Given the description of an element on the screen output the (x, y) to click on. 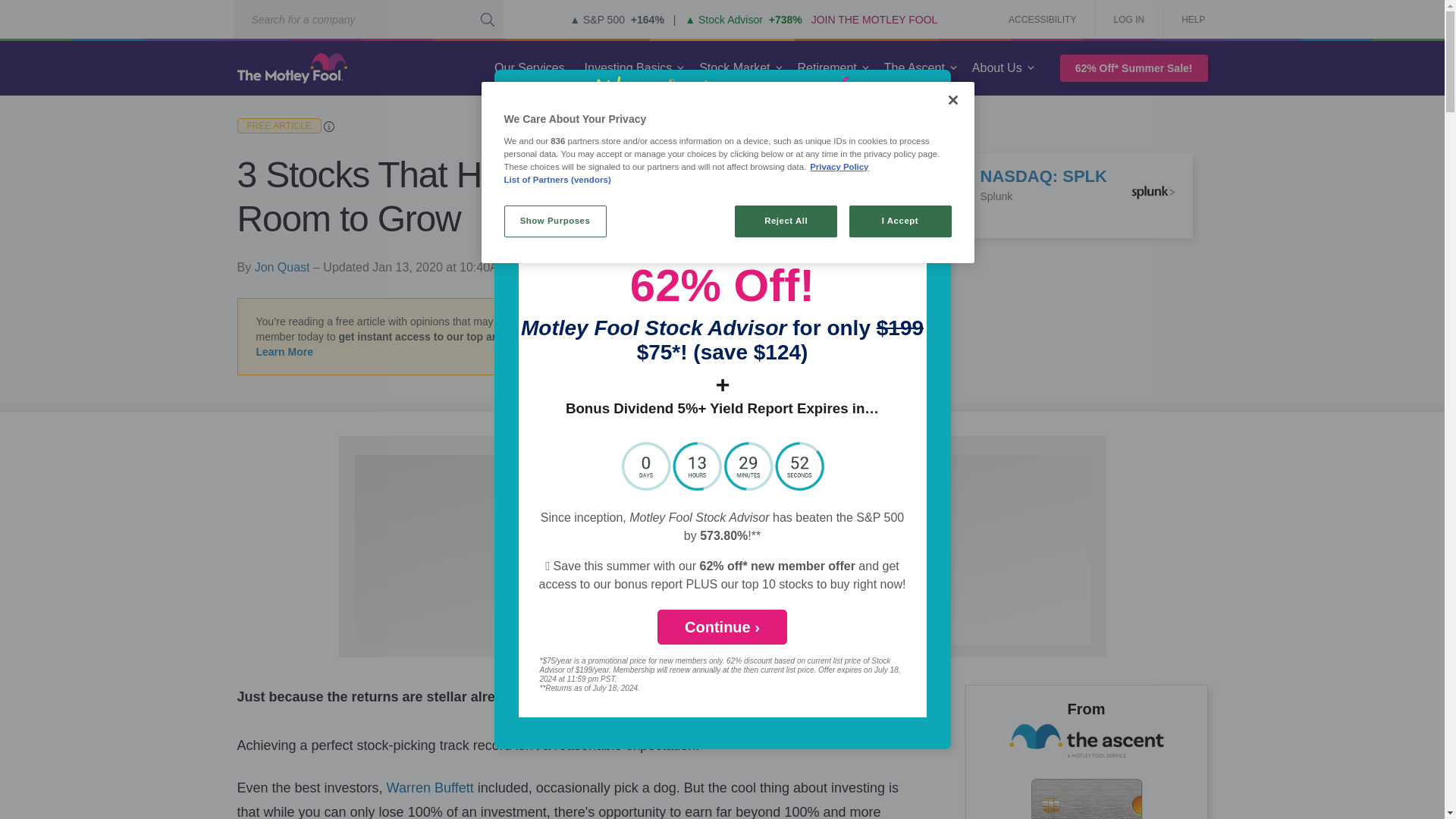
Our Services (528, 67)
Investing Basics (627, 67)
LOG IN (1128, 19)
ACCESSIBILITY (1042, 19)
Stock Market (734, 67)
HELP (1187, 19)
